Given the description of an element on the screen output the (x, y) to click on. 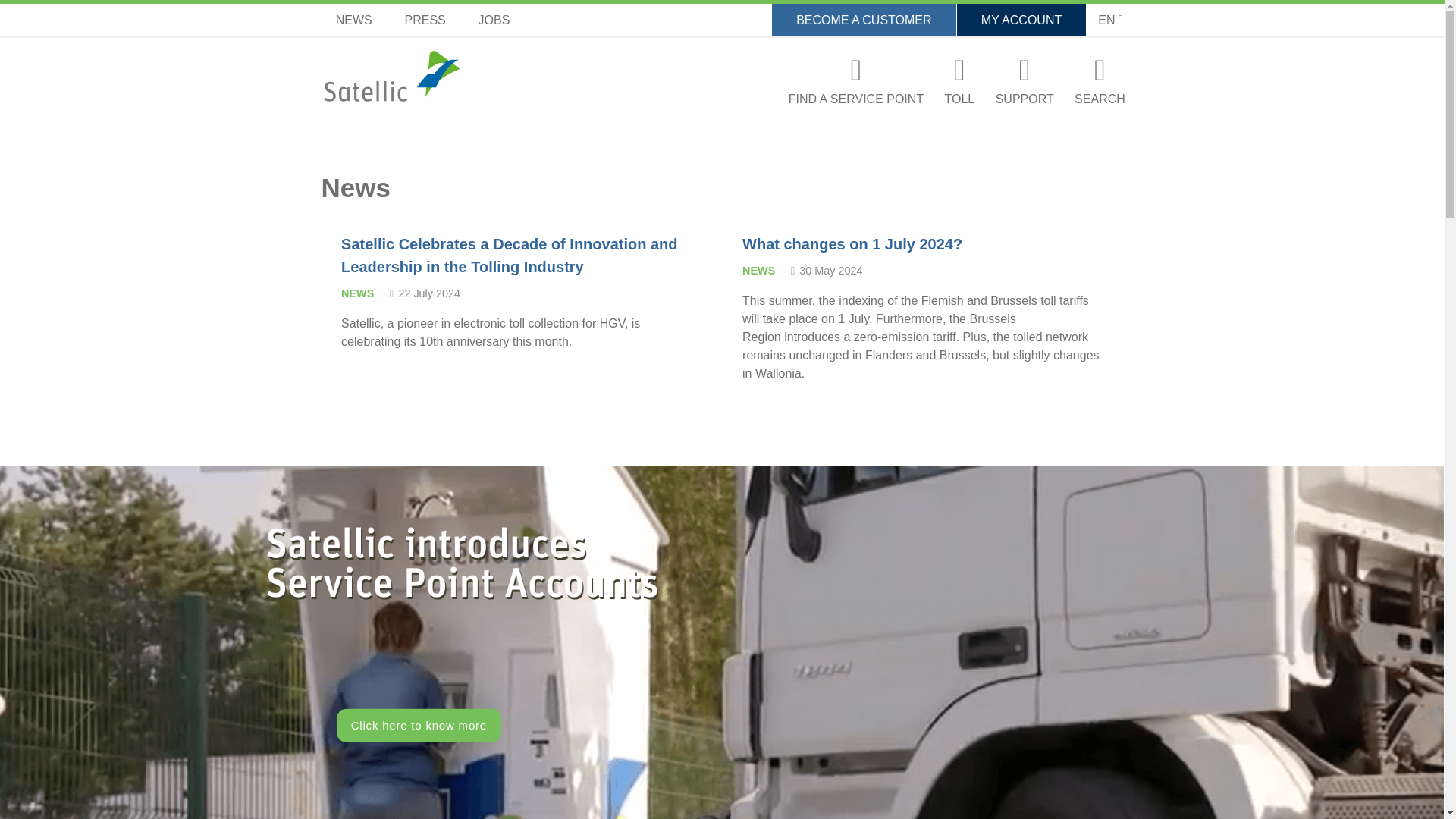
TOLL (959, 87)
MY ACCOUNT (1021, 19)
FIND A SERVICE POINT (855, 87)
Home (391, 76)
SEARCH (1099, 87)
JOBS (495, 19)
PRESS (424, 19)
BECOME A CUSTOMER (863, 19)
SUPPORT (1024, 87)
What changes on 1 July 2024? (852, 243)
Click here to know more (419, 725)
NEWS (354, 19)
